Given the description of an element on the screen output the (x, y) to click on. 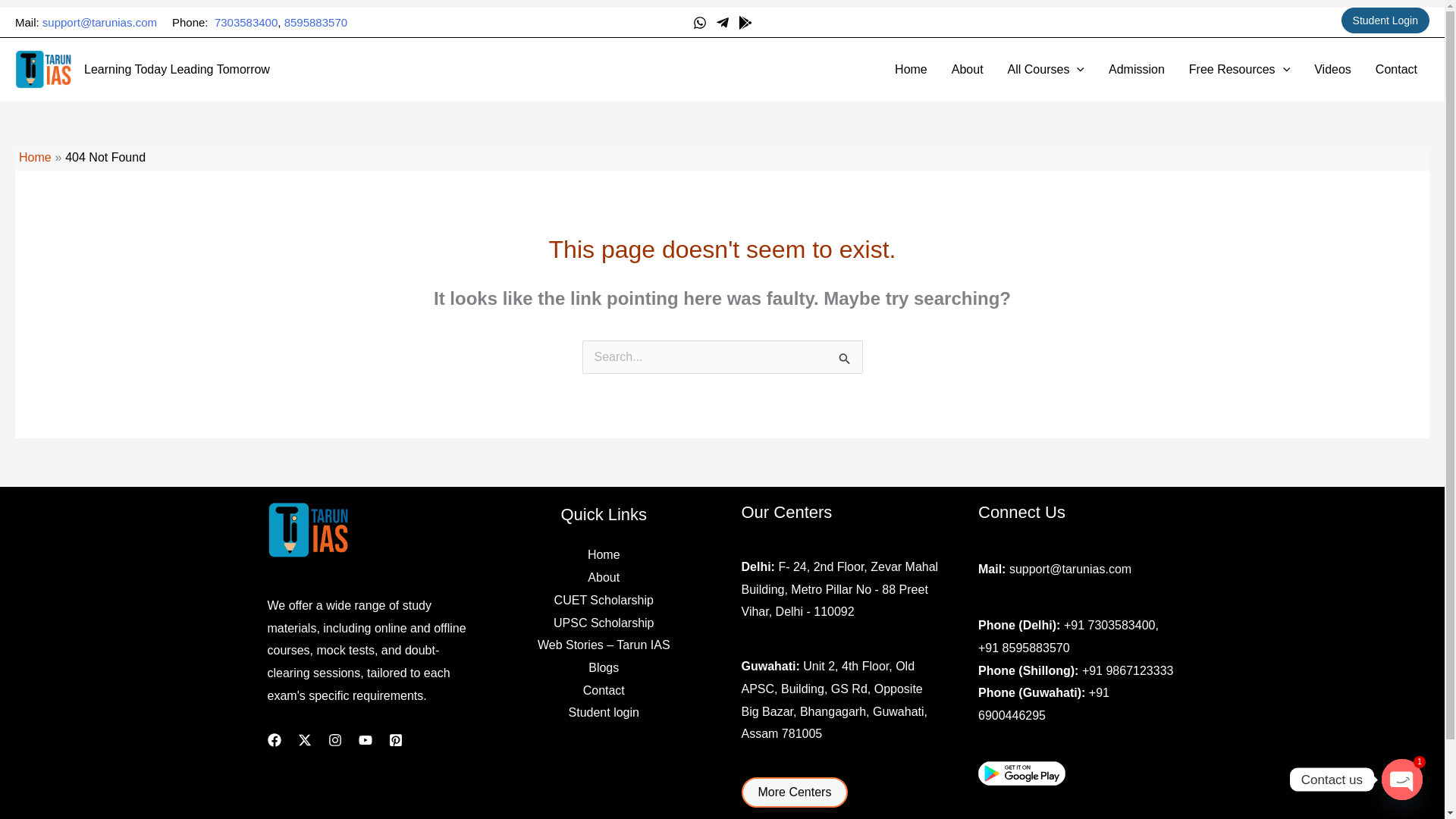
Student Login (1384, 20)
Home (34, 156)
Home (910, 69)
7303583400 (246, 21)
About (967, 69)
Contact (1395, 69)
Videos (1331, 69)
8595883570 (315, 21)
Admission (1136, 69)
All Courses (1045, 69)
Free Resources (1238, 69)
